Given the description of an element on the screen output the (x, y) to click on. 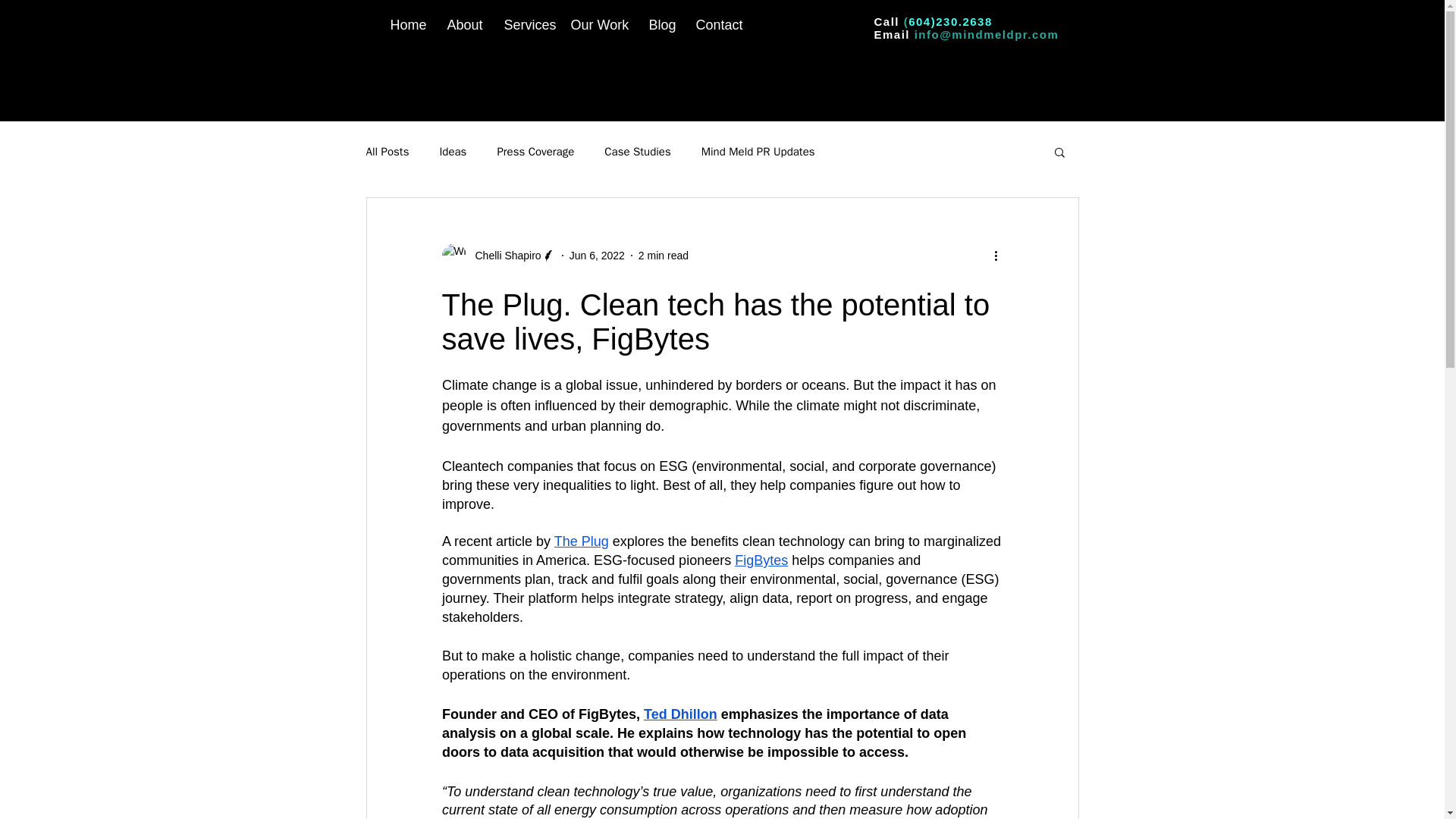
Mind Meld PR Updates (758, 151)
Chelli Shapiro (497, 255)
Case Studies (636, 151)
Blog (660, 25)
FigBytes (761, 560)
Home (406, 25)
All Posts (387, 151)
2 min read (663, 254)
Contact (717, 25)
The Plug (580, 540)
Ideas (452, 151)
Jun 6, 2022 (596, 254)
Press Coverage (534, 151)
Our Work (598, 25)
Services (526, 25)
